Given the description of an element on the screen output the (x, y) to click on. 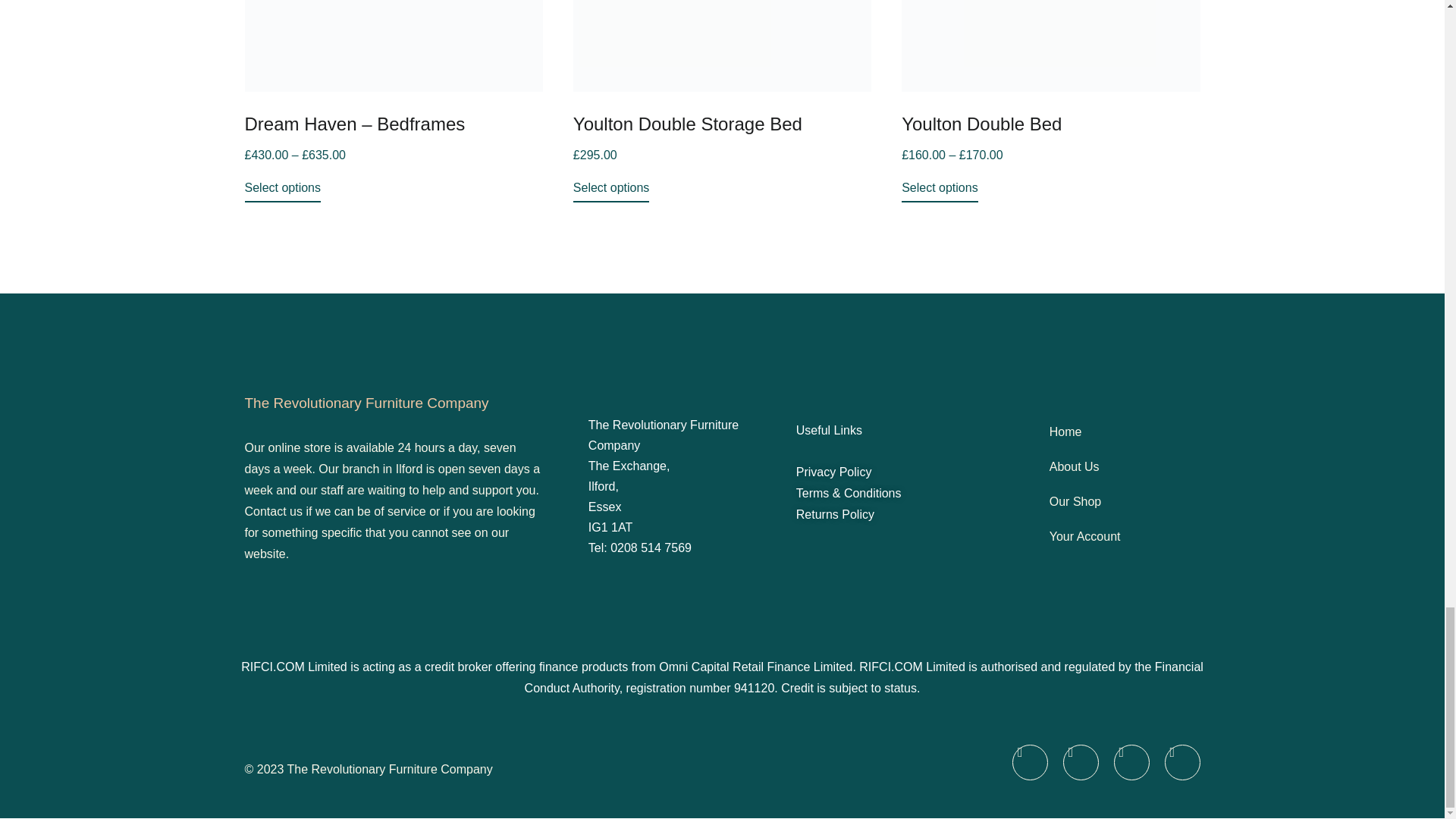
Select options (282, 191)
Returns Policy (835, 513)
Select options (611, 191)
Select options (939, 191)
Privacy Policy (834, 472)
